Given the description of an element on the screen output the (x, y) to click on. 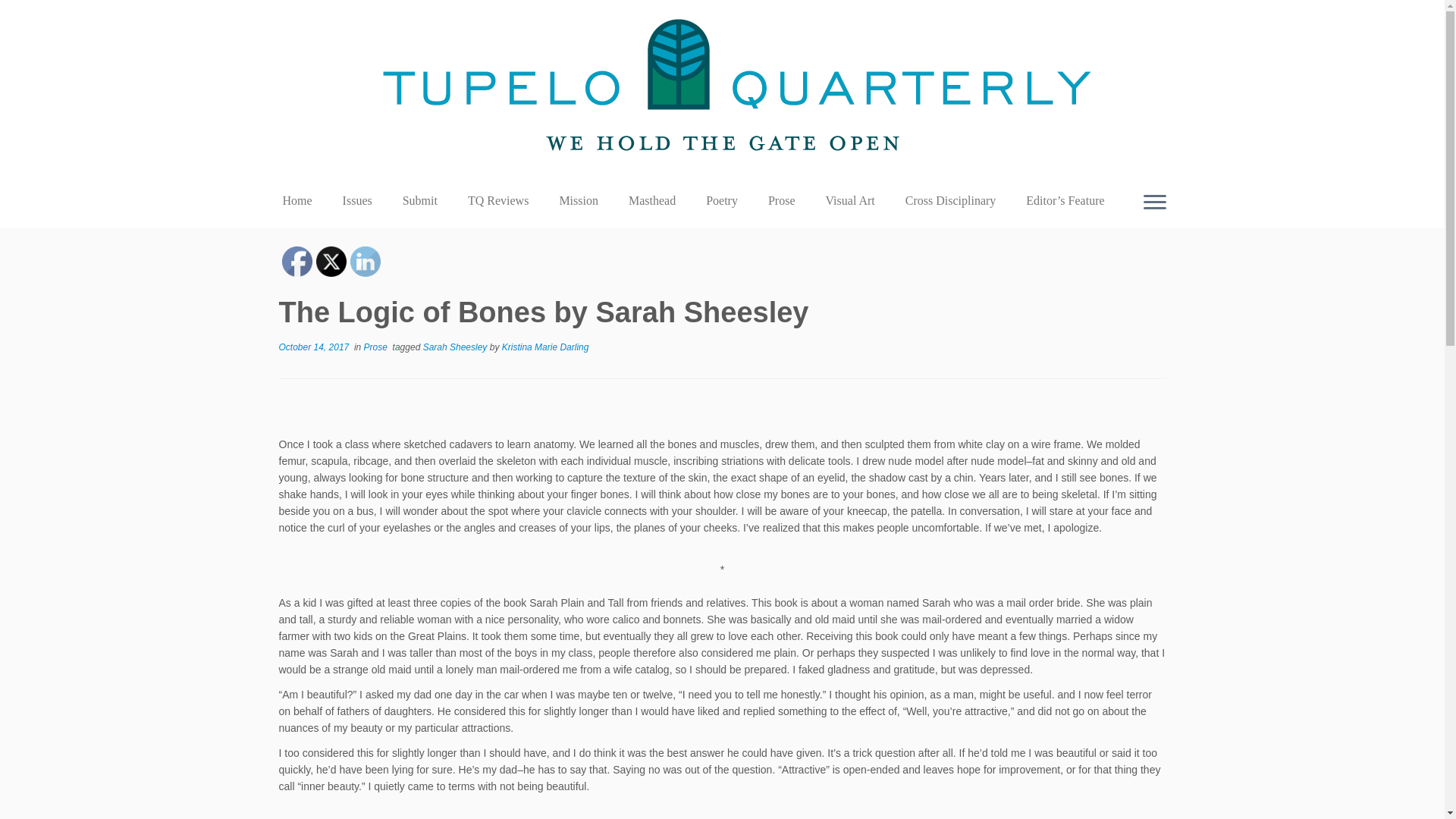
Home (303, 200)
Visual Art (849, 200)
Cross Disciplinary (950, 200)
Sarah Sheesley (456, 347)
View all posts by Kristina Marie Darling (545, 347)
View all posts in Prose (377, 347)
Masthead (651, 200)
Mission (577, 200)
Twitter (330, 261)
October 14, 2017 (314, 347)
